Given the description of an element on the screen output the (x, y) to click on. 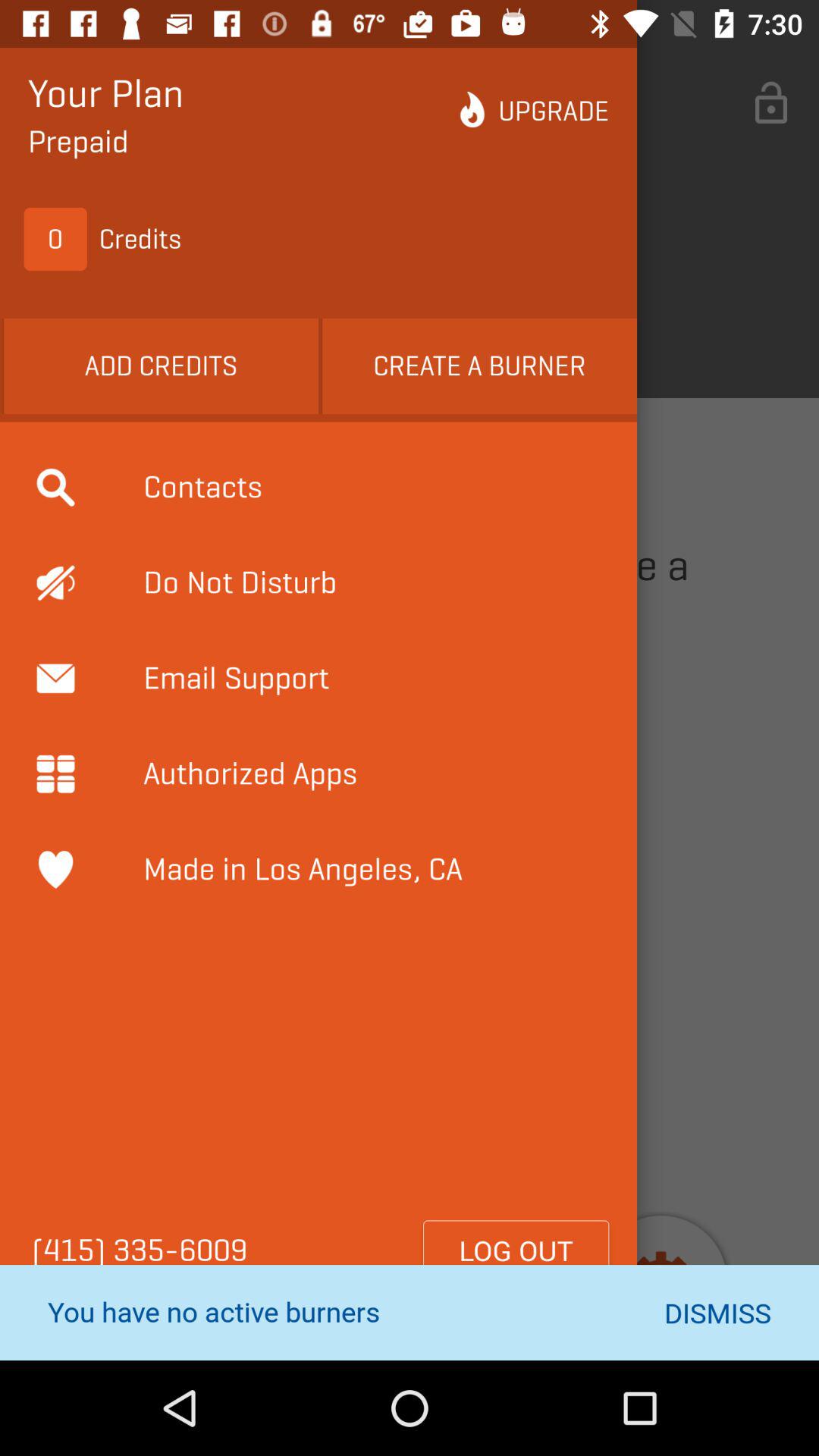
click on the lock icon (771, 103)
click on logout (516, 1250)
